Given the description of an element on the screen output the (x, y) to click on. 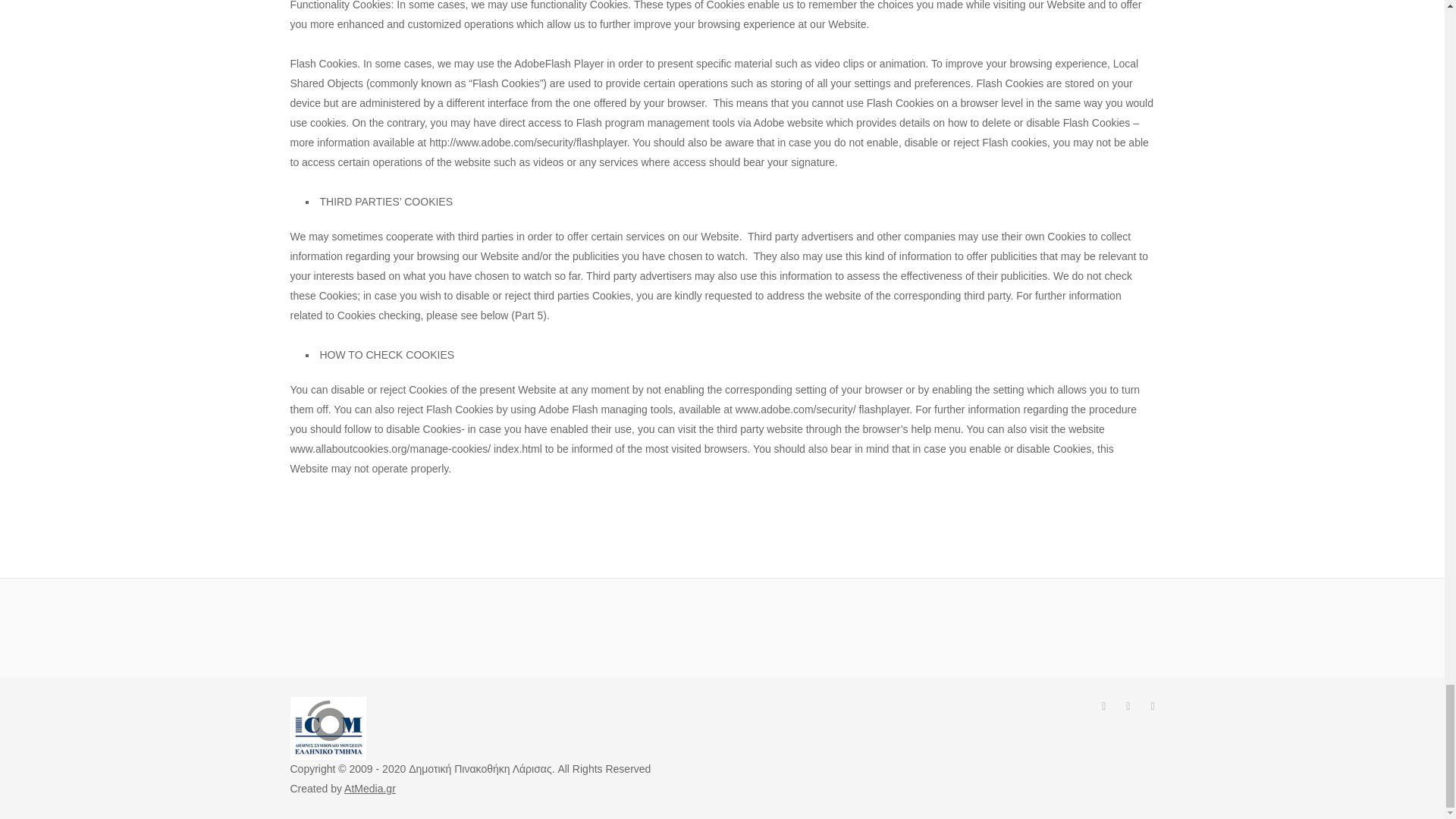
AtMedia :: Digital Interactive Solutions (369, 788)
International Council of Museums (327, 727)
AtMedia.gr (369, 788)
